Given the description of an element on the screen output the (x, y) to click on. 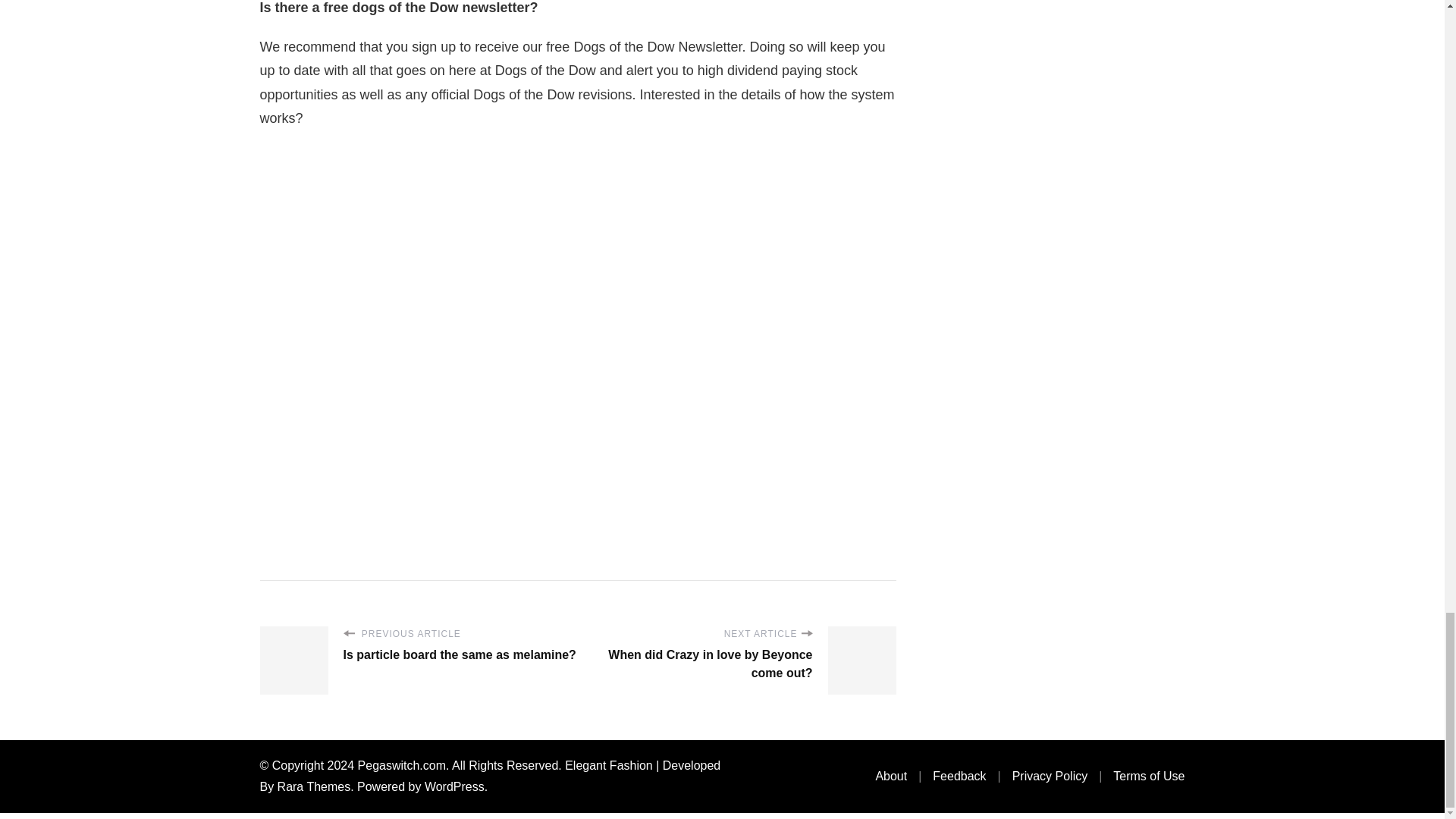
WordPress (454, 786)
Pegaswitch.com (401, 765)
Rara Themes (314, 786)
